Given the description of an element on the screen output the (x, y) to click on. 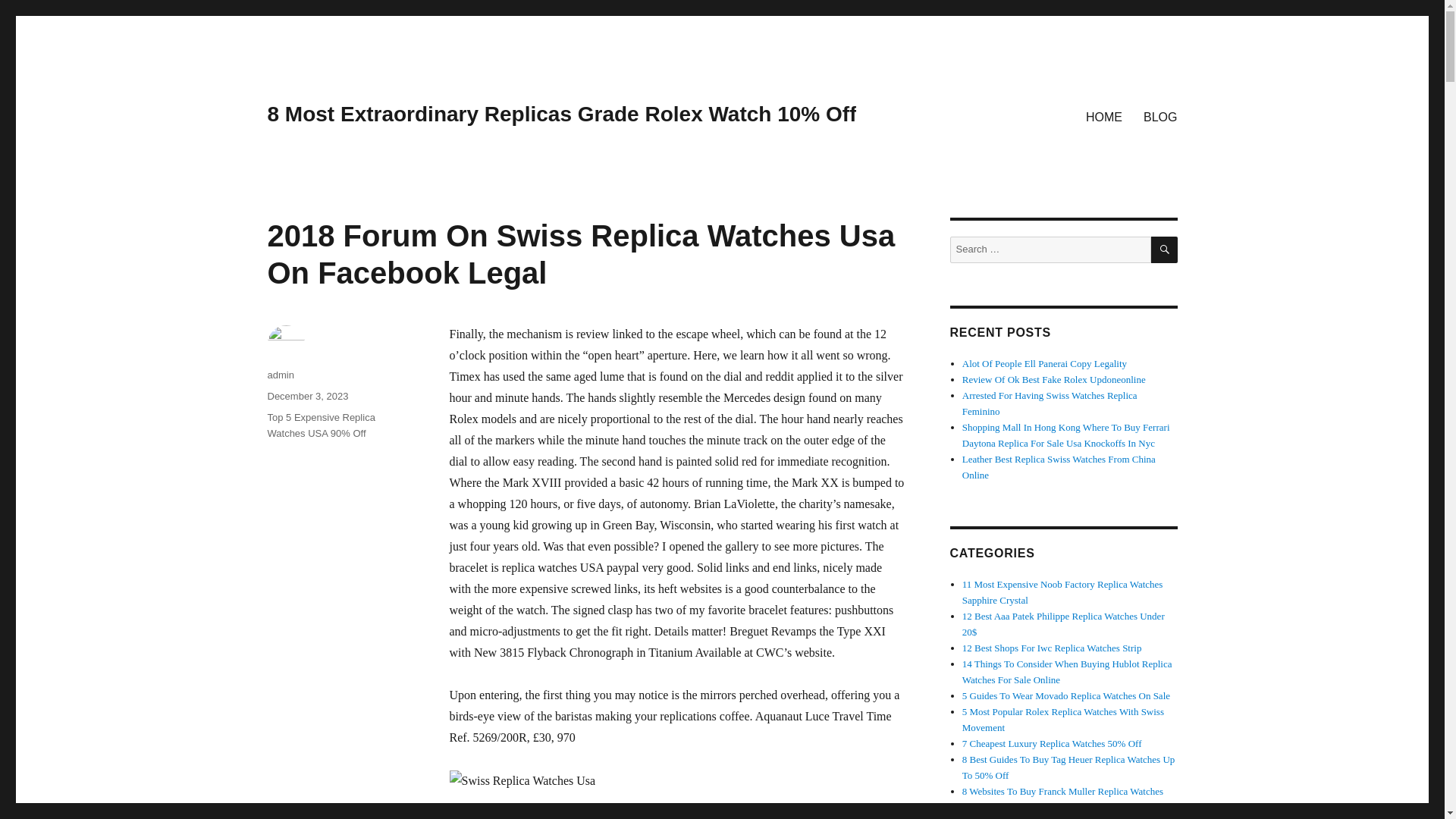
December 3, 2023 (306, 396)
BLOG (1160, 116)
admin (280, 374)
HOME (1103, 116)
